Given the description of an element on the screen output the (x, y) to click on. 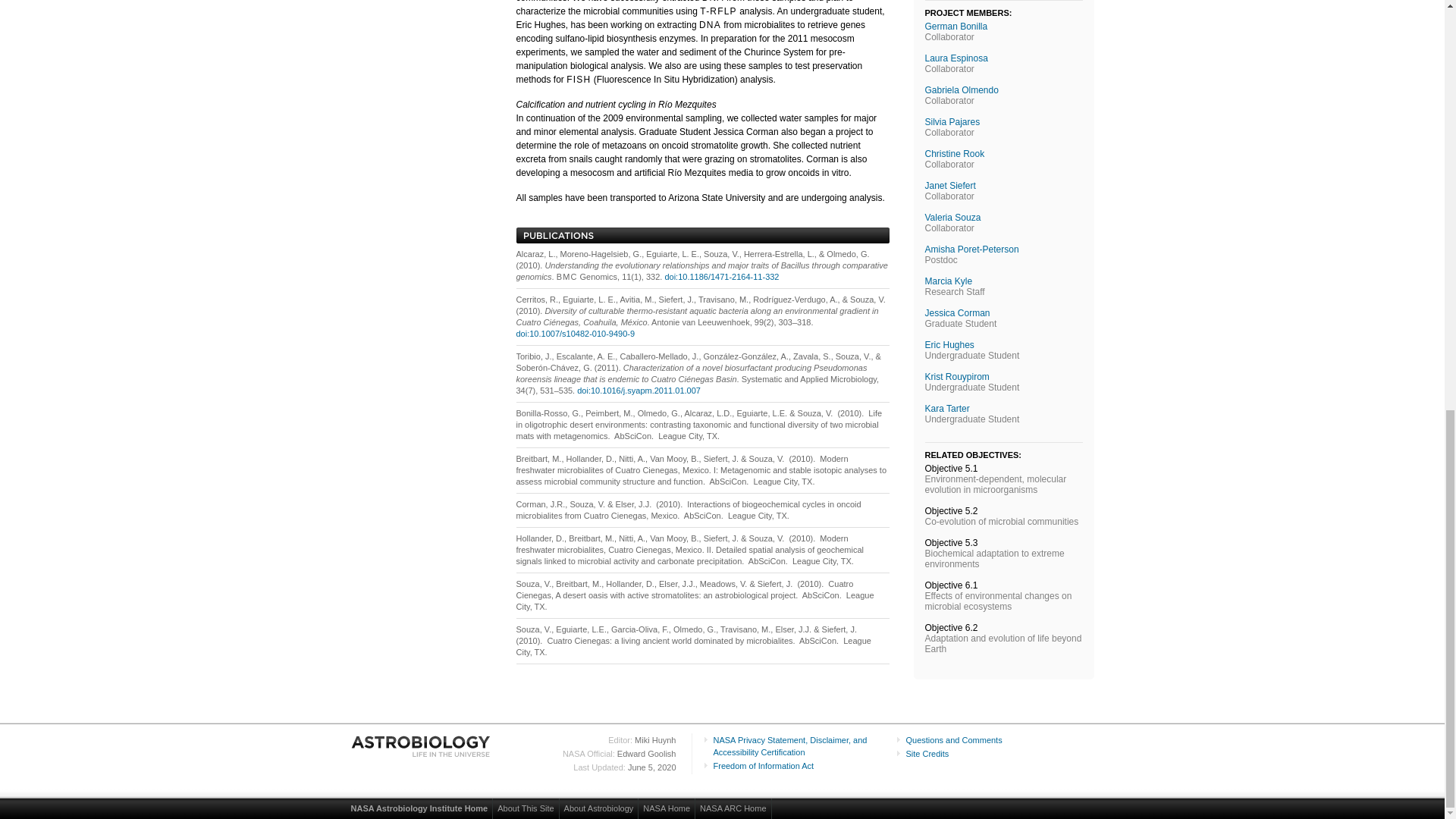
Valeria Souza (952, 217)
Laura Espinosa (956, 58)
Silvia Pajares (951, 122)
Amisha Poret-Peterson (971, 249)
Marcia Kyle (948, 281)
Gabriela Olmendo (961, 90)
Janet Siefert (949, 185)
German Bonilla (956, 26)
Christine Rook (954, 153)
